Given the description of an element on the screen output the (x, y) to click on. 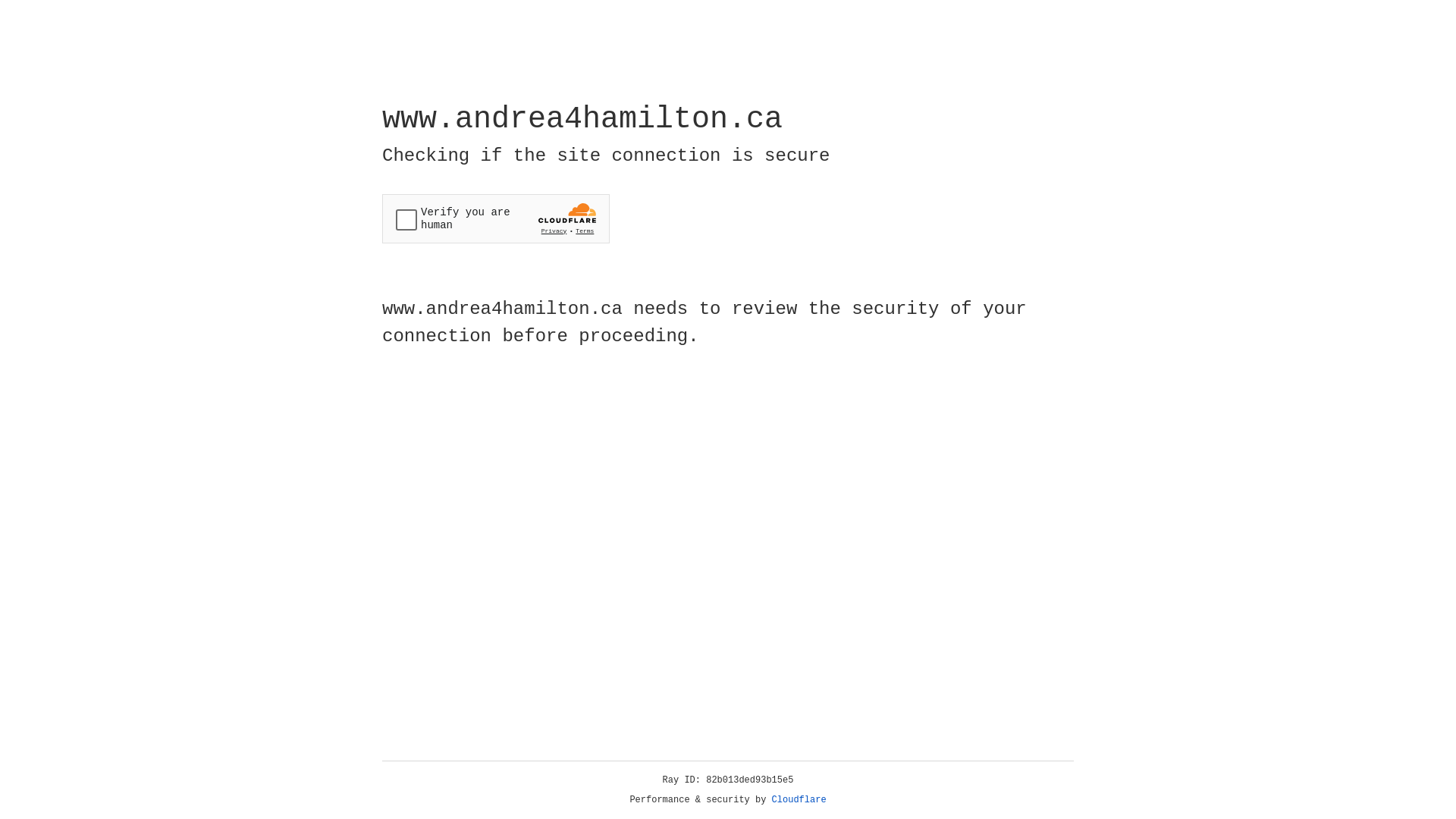
Cloudflare Element type: text (798, 799)
Widget containing a Cloudflare security challenge Element type: hover (495, 218)
